Given the description of an element on the screen output the (x, y) to click on. 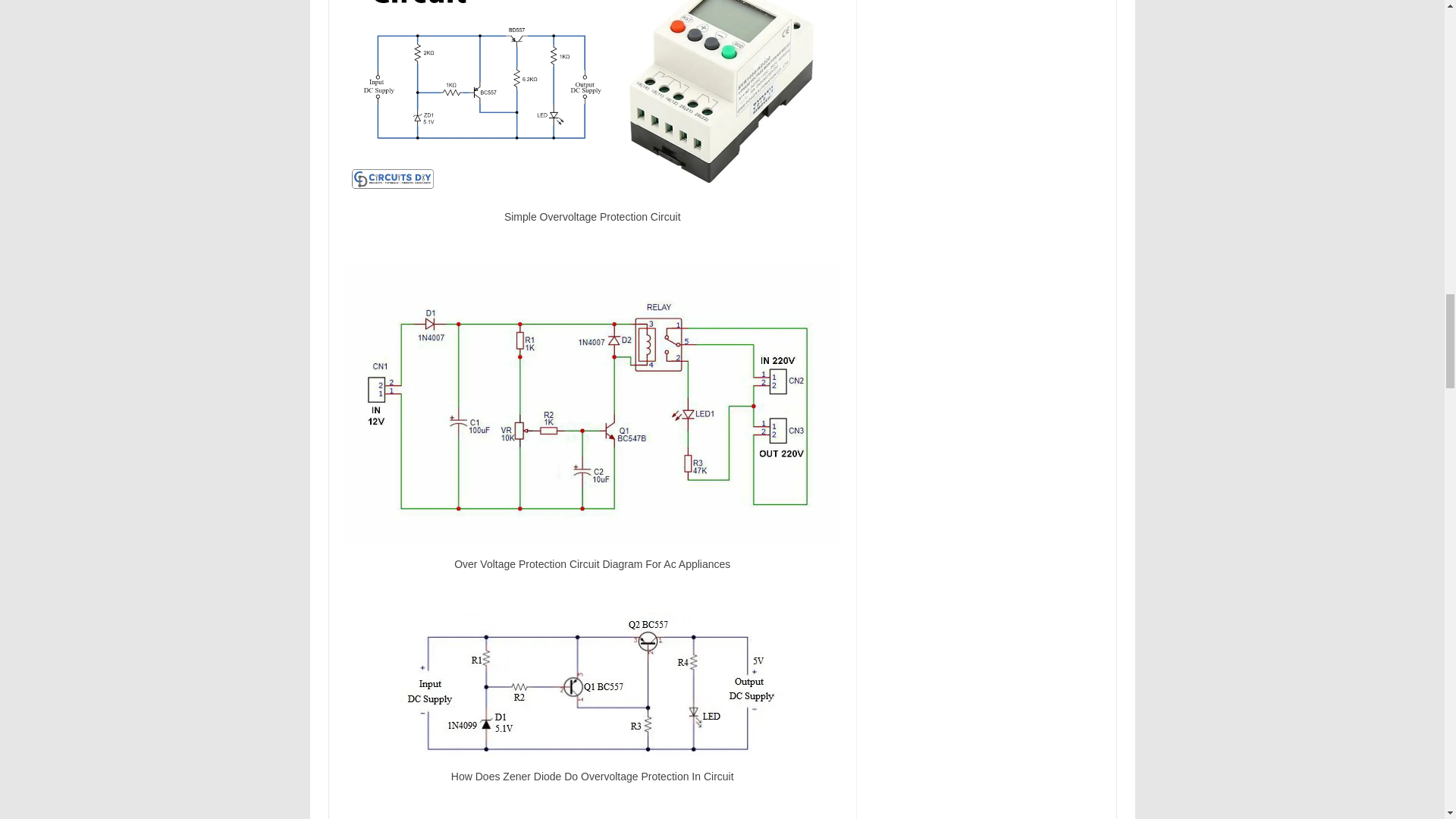
Simple Overvoltage Protection Circuit (591, 98)
How Does Zener Diode Do Overvoltage Protection In Circuit (592, 683)
